Given the description of an element on the screen output the (x, y) to click on. 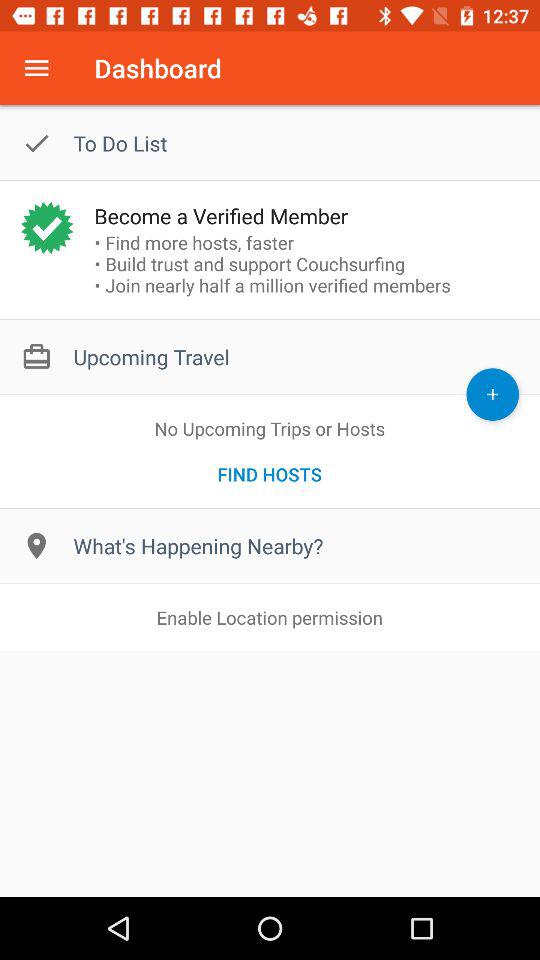
launch icon to the left of the dashboard (36, 68)
